Given the description of an element on the screen output the (x, y) to click on. 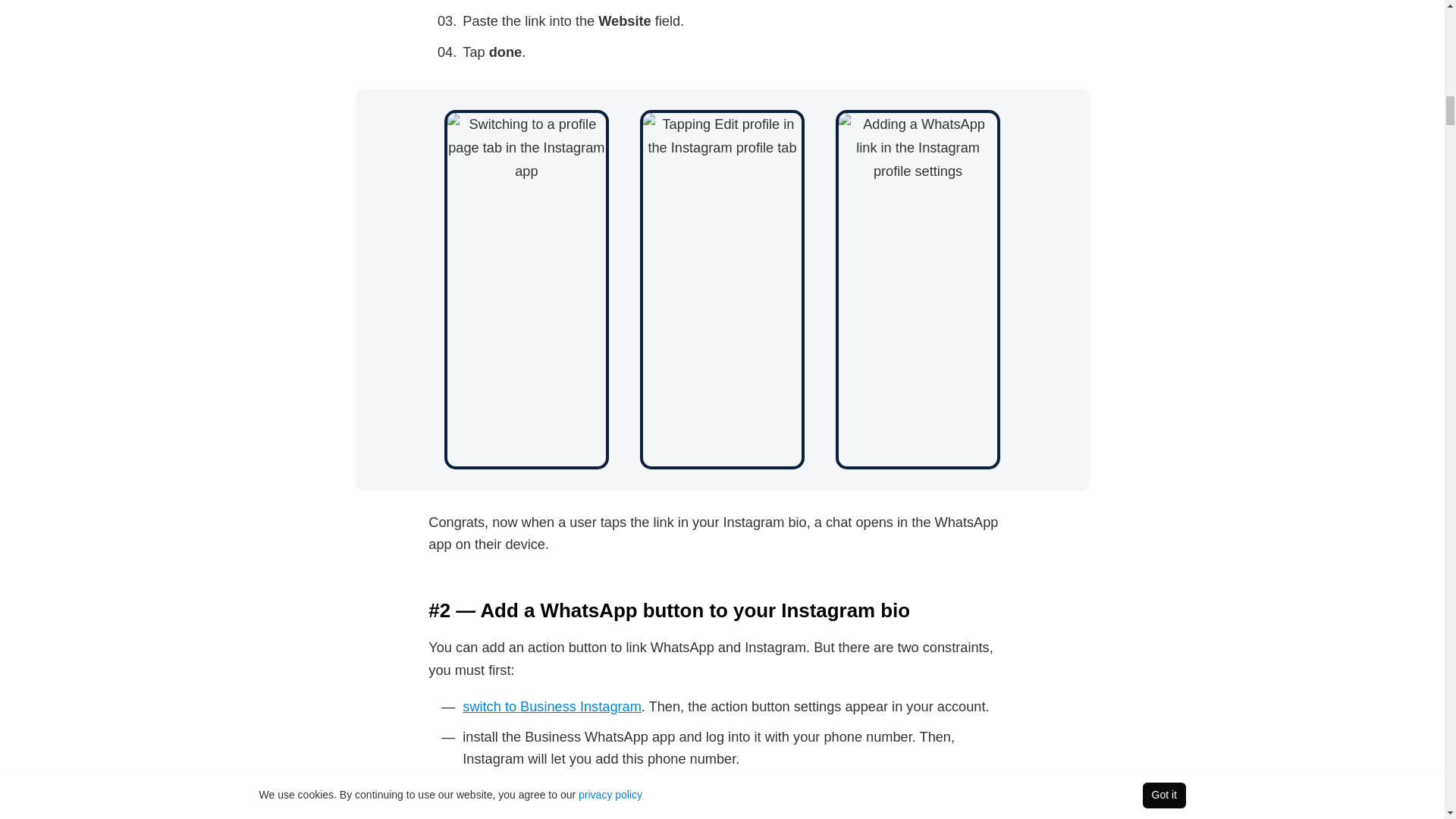
switch to Business Instagram (552, 706)
